Given the description of an element on the screen output the (x, y) to click on. 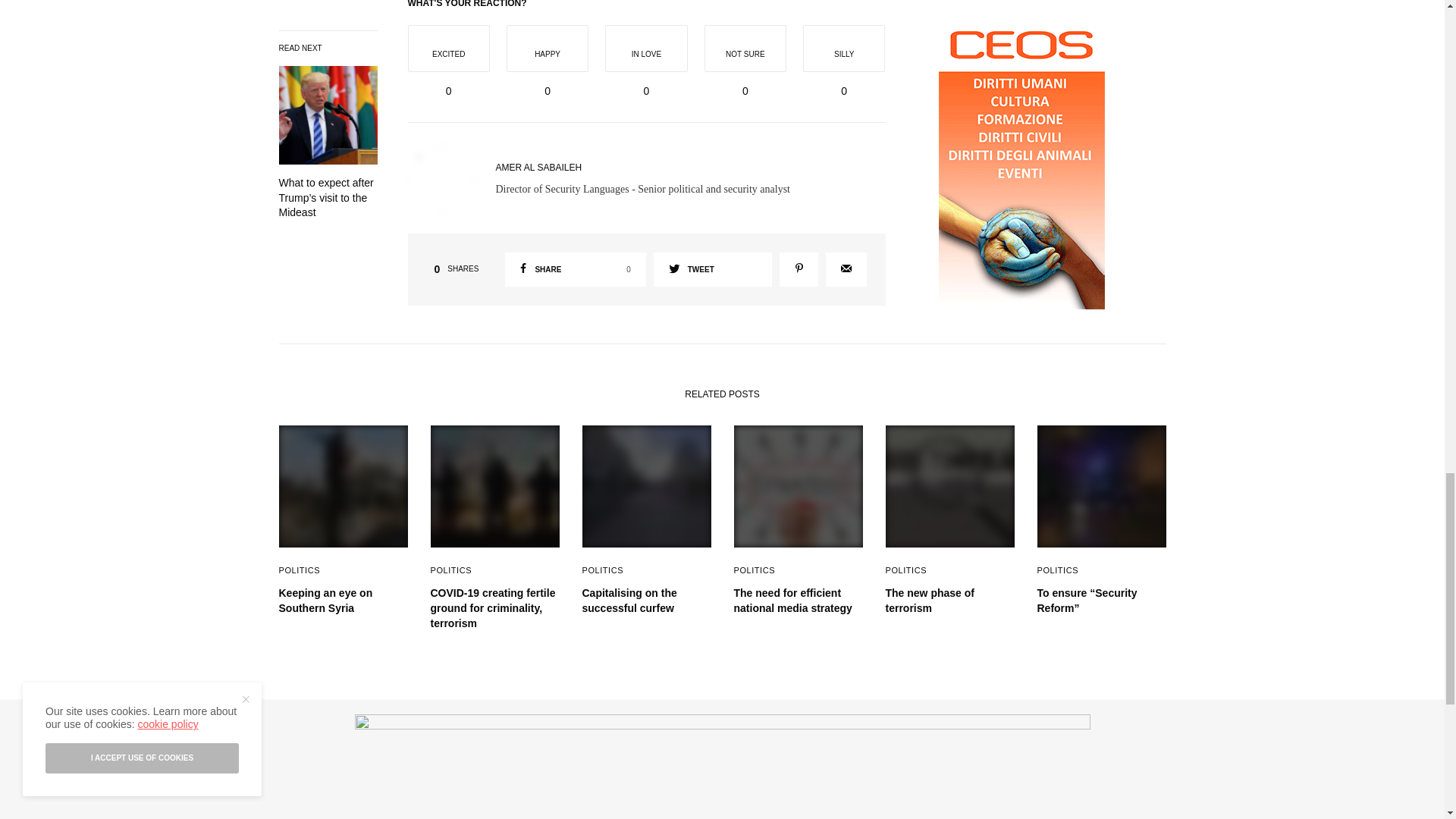
Keeping an eye on Southern Syria (343, 600)
COVID-19 creating fertile ground for criminality, terrorism (494, 608)
The need for efficient national media strategy (575, 269)
AMER AL SABAILEH (798, 600)
TWEET (539, 166)
Capitalising on the successful curfew (712, 269)
